Given the description of an element on the screen output the (x, y) to click on. 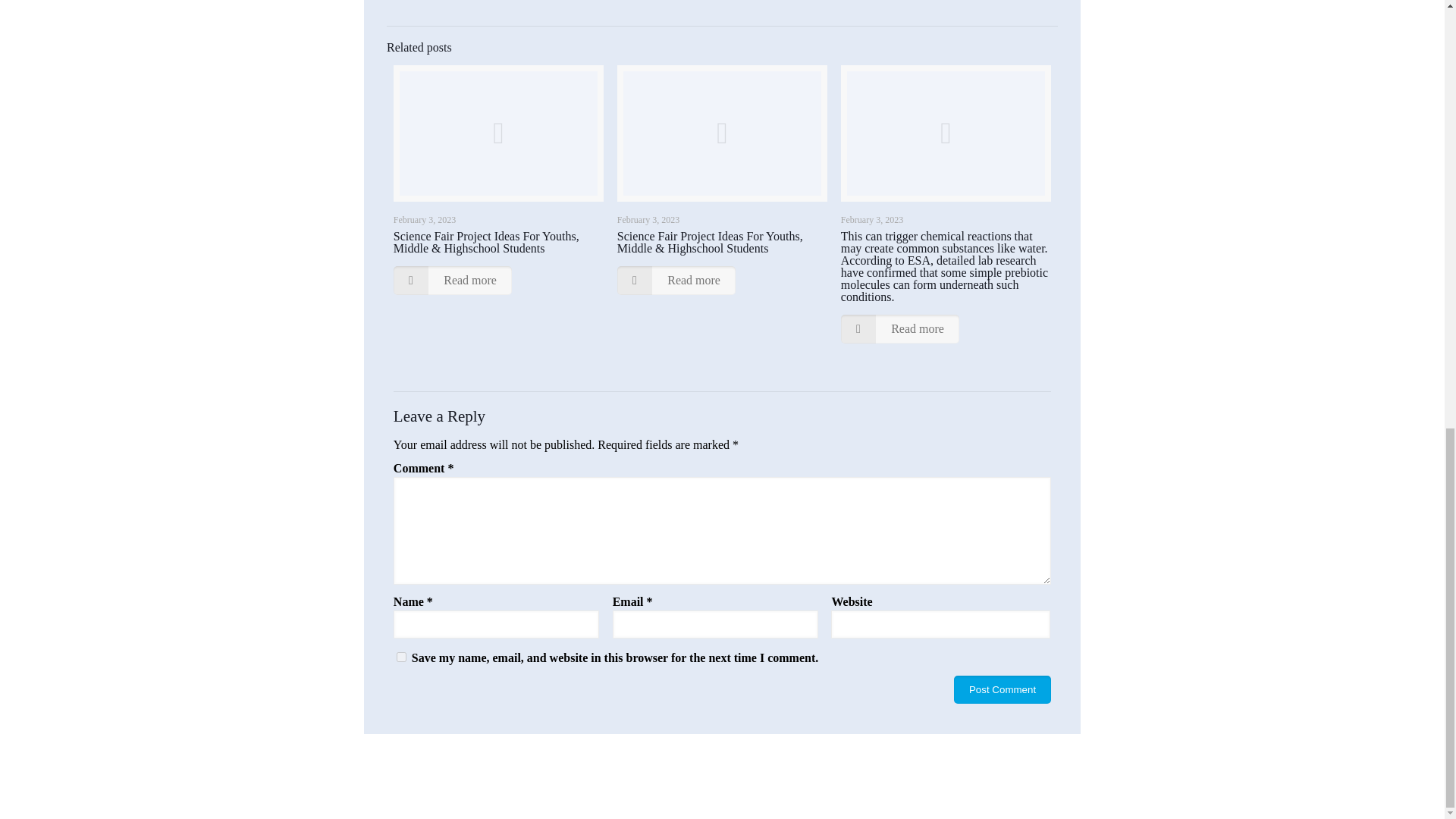
Read more (676, 280)
yes (401, 656)
Read more (452, 280)
Post Comment (1002, 689)
Post Comment (1002, 689)
Read more (900, 328)
Cactusgroup (860, 774)
